Given the description of an element on the screen output the (x, y) to click on. 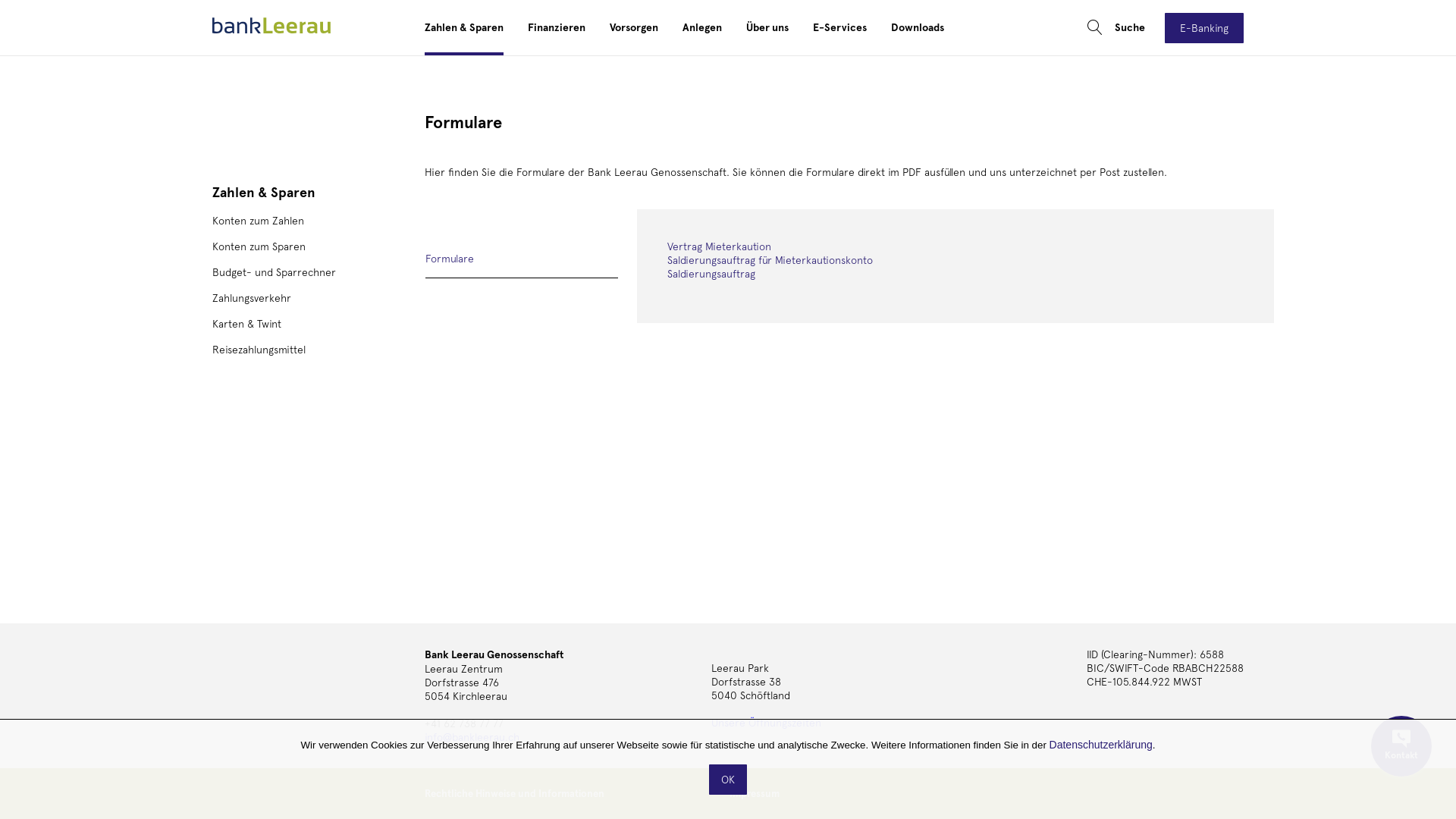
Zahlungsverkehr Element type: text (251, 297)
Vertrag Mieterkaution Element type: text (719, 246)
Zahlen & Sparen Element type: text (463, 27)
Impressum Element type: text (754, 793)
Anlegen Element type: text (701, 27)
Karten & Twint Element type: text (246, 323)
Finanzieren Element type: text (556, 27)
Saldierungsauftrag Element type: text (711, 273)
Konten zum Sparen Element type: text (258, 246)
info@bankleerau.ch Element type: text (471, 737)
Rechtliche Hinweise und Informationen Element type: text (514, 793)
Kontakt Element type: text (1401, 745)
Vorsorgen Element type: text (633, 27)
E-Services Element type: text (839, 27)
Zahlen & Sparen Element type: text (263, 192)
Downloads Element type: text (917, 27)
Konten zum Zahlen Element type: text (258, 220)
E-Banking Element type: text (1203, 27)
Budget- und Sparrechner Element type: text (273, 272)
Reisezahlungsmittel Element type: text (258, 349)
Suche Element type: text (1115, 27)
OK Element type: text (727, 779)
